Given the description of an element on the screen output the (x, y) to click on. 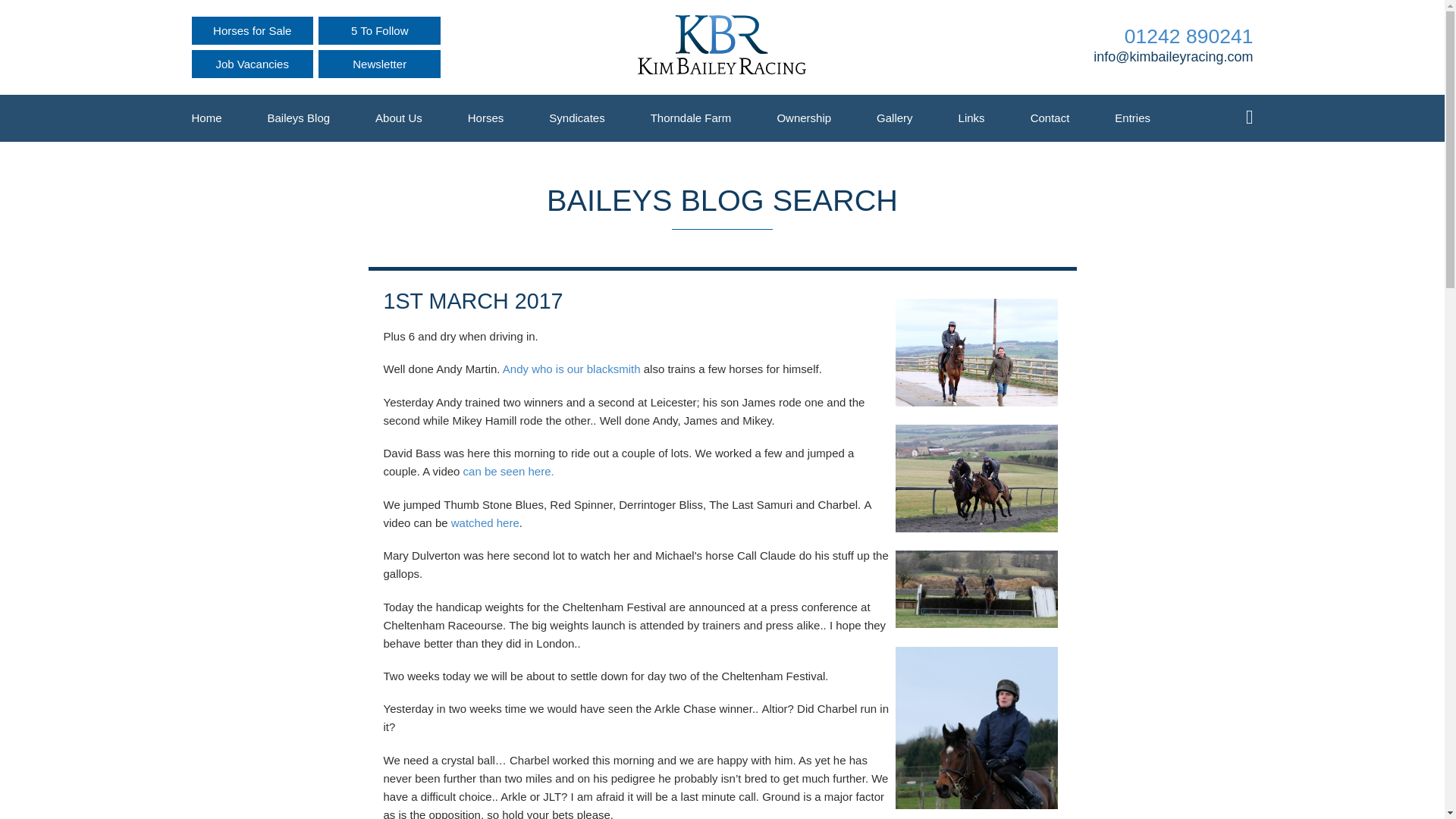
Newsletter (378, 63)
Job Vacancies (251, 63)
5 To Follow (378, 30)
Horses for Sale (251, 30)
